Given the description of an element on the screen output the (x, y) to click on. 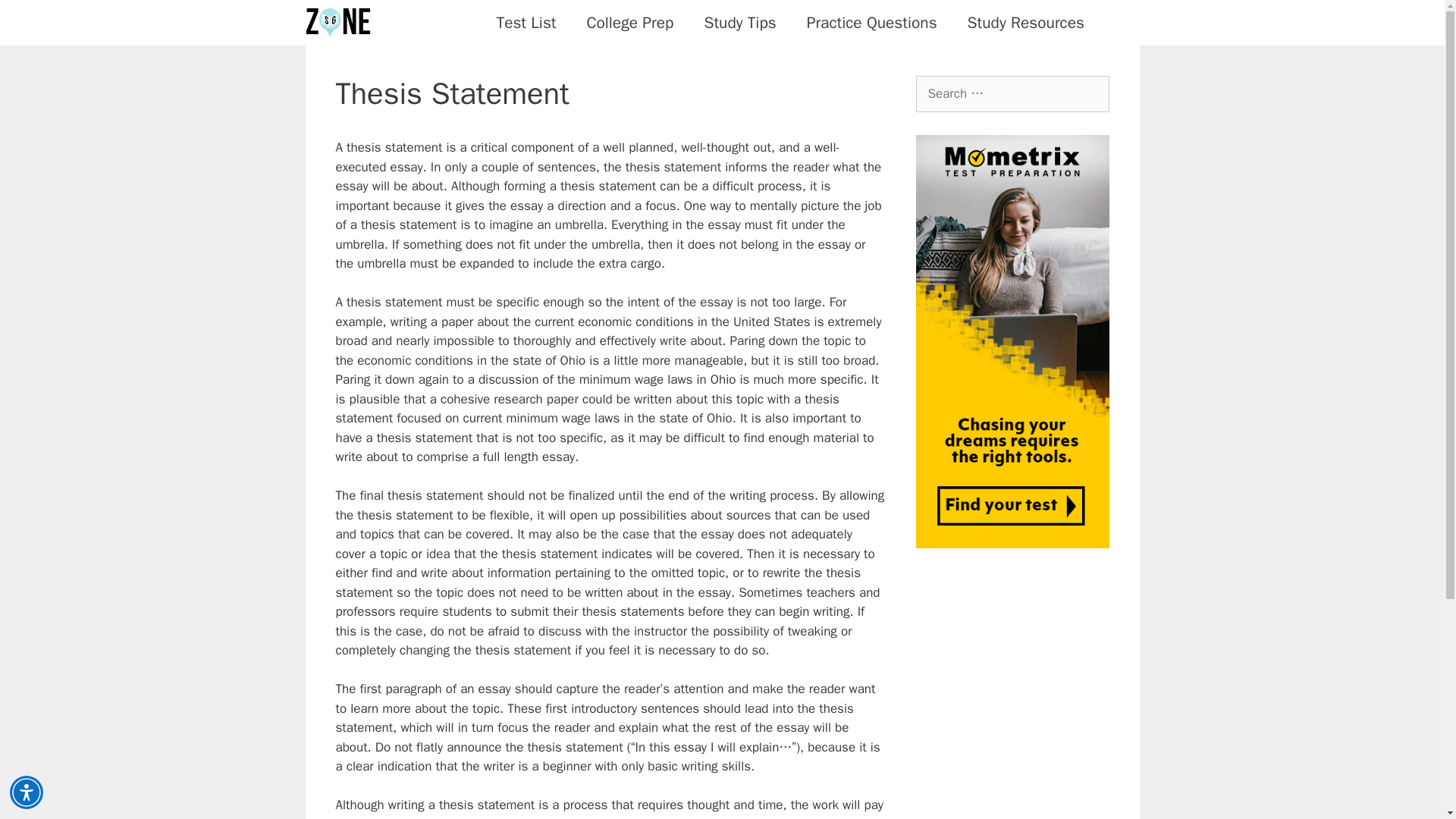
Practice Questions (872, 22)
Study Resources (1025, 22)
College Prep (630, 22)
Study Tips (739, 22)
Search for: (1012, 94)
Study Guide Zone (340, 22)
Study Guide Zone (336, 22)
Test List (526, 22)
Accessibility Menu (26, 792)
Search (35, 18)
